Given the description of an element on the screen output the (x, y) to click on. 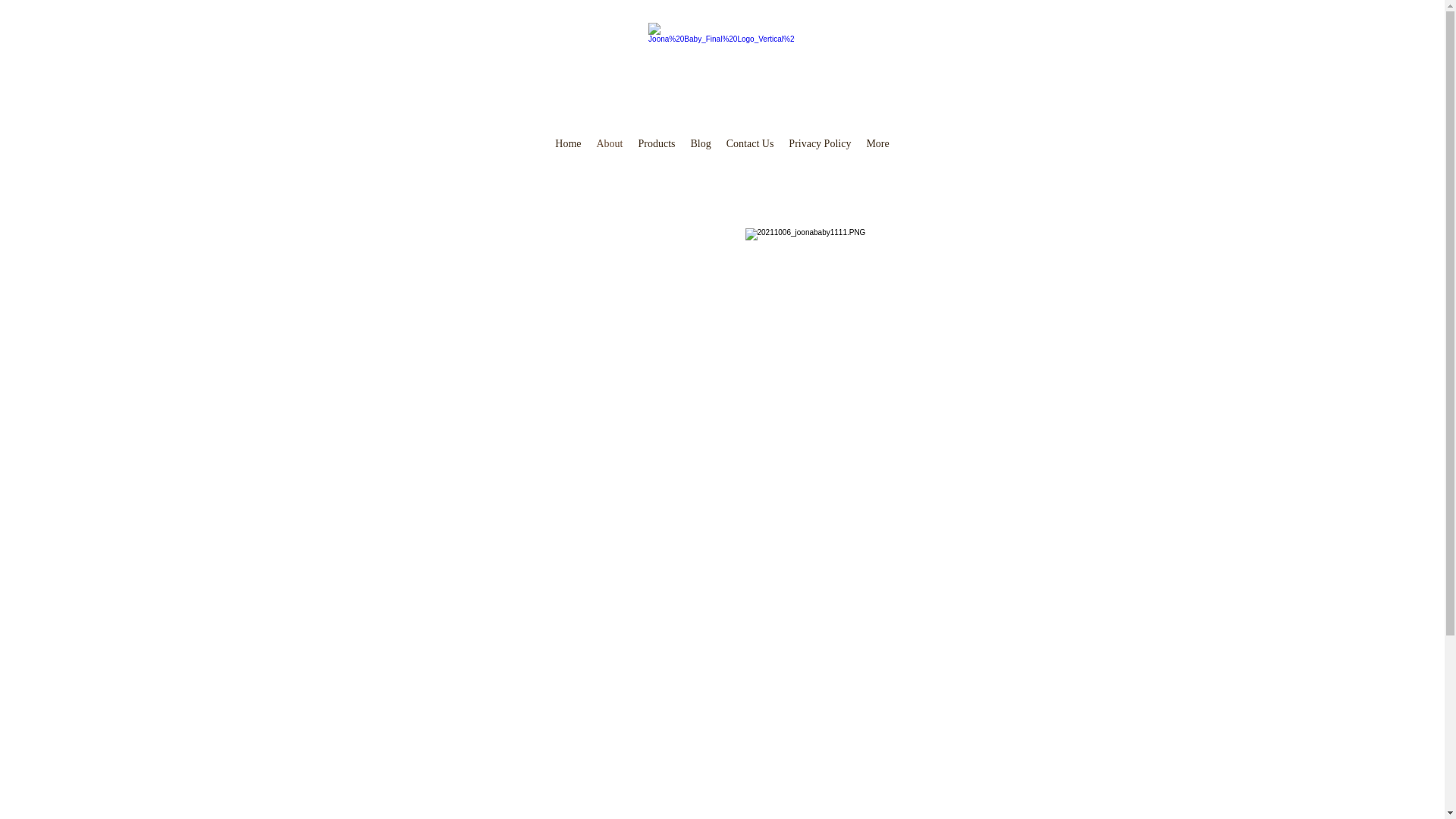
Privacy Policy Element type: text (819, 147)
Contact Us Element type: text (749, 147)
Blog Element type: text (700, 147)
About Element type: text (609, 147)
Products Element type: text (656, 147)
Home Element type: text (567, 147)
